Given the description of an element on the screen output the (x, y) to click on. 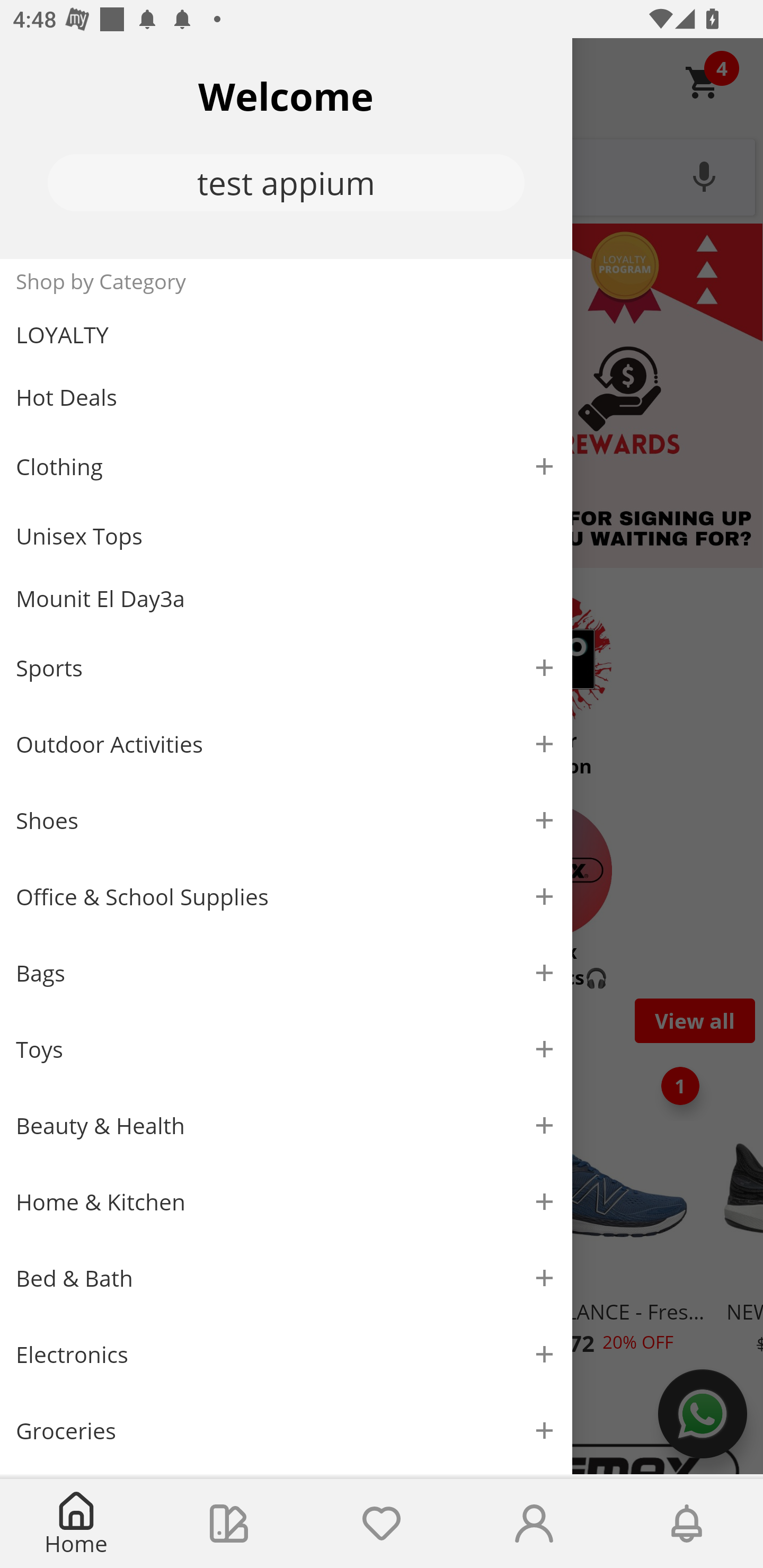
Welcome test appium (286, 147)
LOYALTY (286, 334)
Hot Deals (286, 396)
Clothing (286, 466)
Unisex Tops (286, 535)
Mounit El Day3a (286, 598)
Sports (286, 667)
Outdoor Activities (286, 743)
Shoes (286, 820)
Office & School Supplies (286, 896)
Bags (286, 972)
Toys (286, 1049)
Beauty & Health (286, 1125)
Home & Kitchen (286, 1201)
Bed & Bath (286, 1278)
Electronics (286, 1354)
Groceries (286, 1430)
Collections (228, 1523)
Wishlist (381, 1523)
Account (533, 1523)
Notifications (686, 1523)
